Given the description of an element on the screen output the (x, y) to click on. 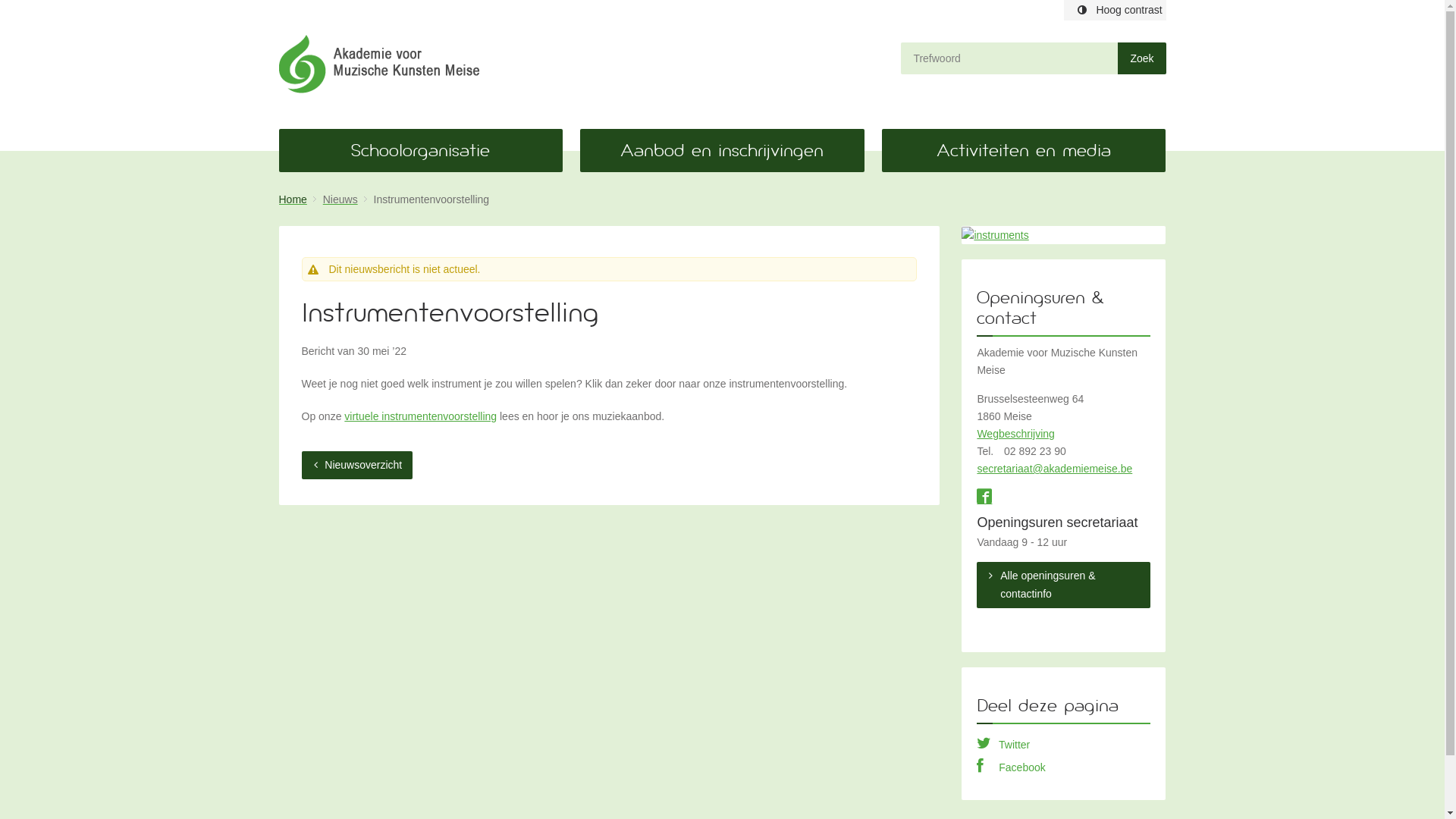
Nieuws Element type: text (346, 199)
secretariaat@akademiemeise.be Element type: text (1054, 468)
Home Element type: text (299, 199)
Wegbeschrijving Element type: text (1015, 433)
Facebook Element type: text (1010, 767)
Twitter Element type: text (1002, 744)
Aanbod en inschrijvingen Element type: text (721, 150)
Activiteiten en media Element type: text (1023, 150)
Hoog contrast Element type: text (1114, 10)
Zoeken Element type: hover (1141, 58)
trefwoord Element type: hover (1008, 58)
Facebook Element type: text (983, 497)
virtuele instrumentenvoorstelling Element type: text (420, 416)
Schoolorganisatie Element type: text (420, 150)
instruments (grote weergave) Element type: hover (1063, 234)
Zoek Element type: text (1141, 58)
Alle openingsuren & contactinfo Element type: text (1063, 584)
Nieuwsoverzicht Element type: text (357, 465)
